Given the description of an element on the screen output the (x, y) to click on. 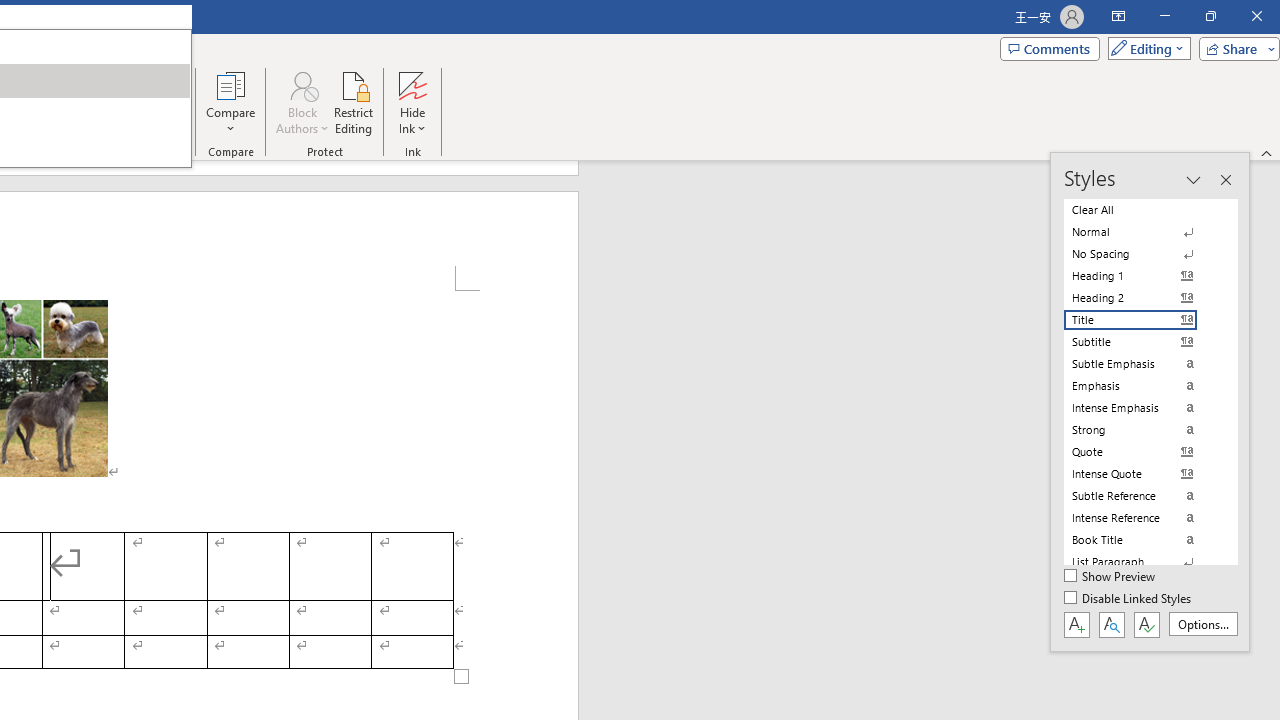
Restore Down (1210, 16)
Minimize (1164, 16)
Task Pane Options (1193, 179)
Accept and Move to Next (50, 84)
Open (6, 78)
Next (140, 101)
Class: MsoCommandBar (1149, 401)
Intense Quote (1142, 473)
Intense Emphasis (1142, 407)
Hide Ink (412, 102)
Subtle Emphasis (1142, 363)
Restrict Editing (353, 102)
Class: NetUIImage (1129, 561)
Clear All (1142, 209)
Intense Reference (1142, 517)
